Given the description of an element on the screen output the (x, y) to click on. 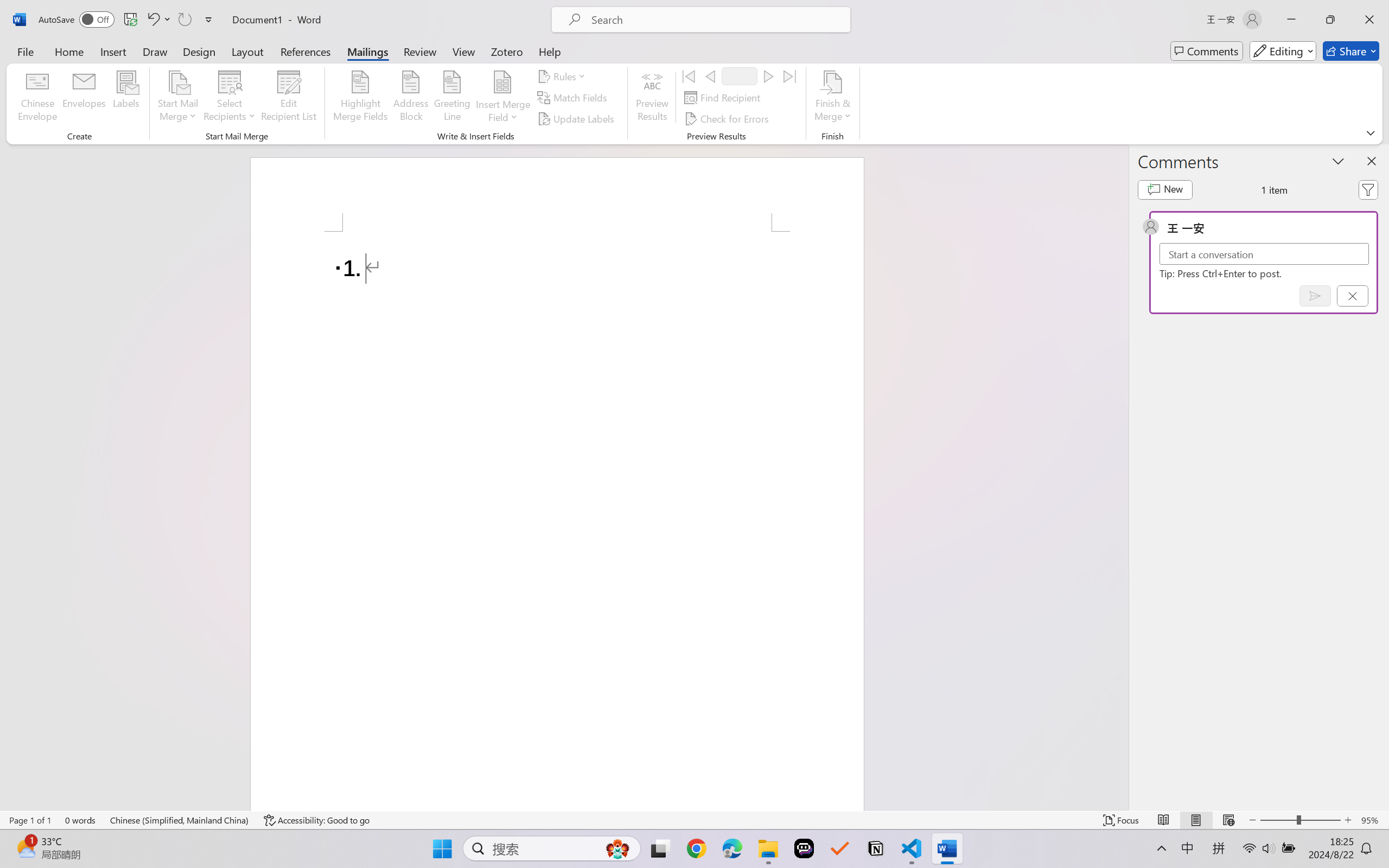
Undo Number Default (152, 19)
Check for Errors... (728, 118)
Finish & Merge (832, 97)
